Given the description of an element on the screen output the (x, y) to click on. 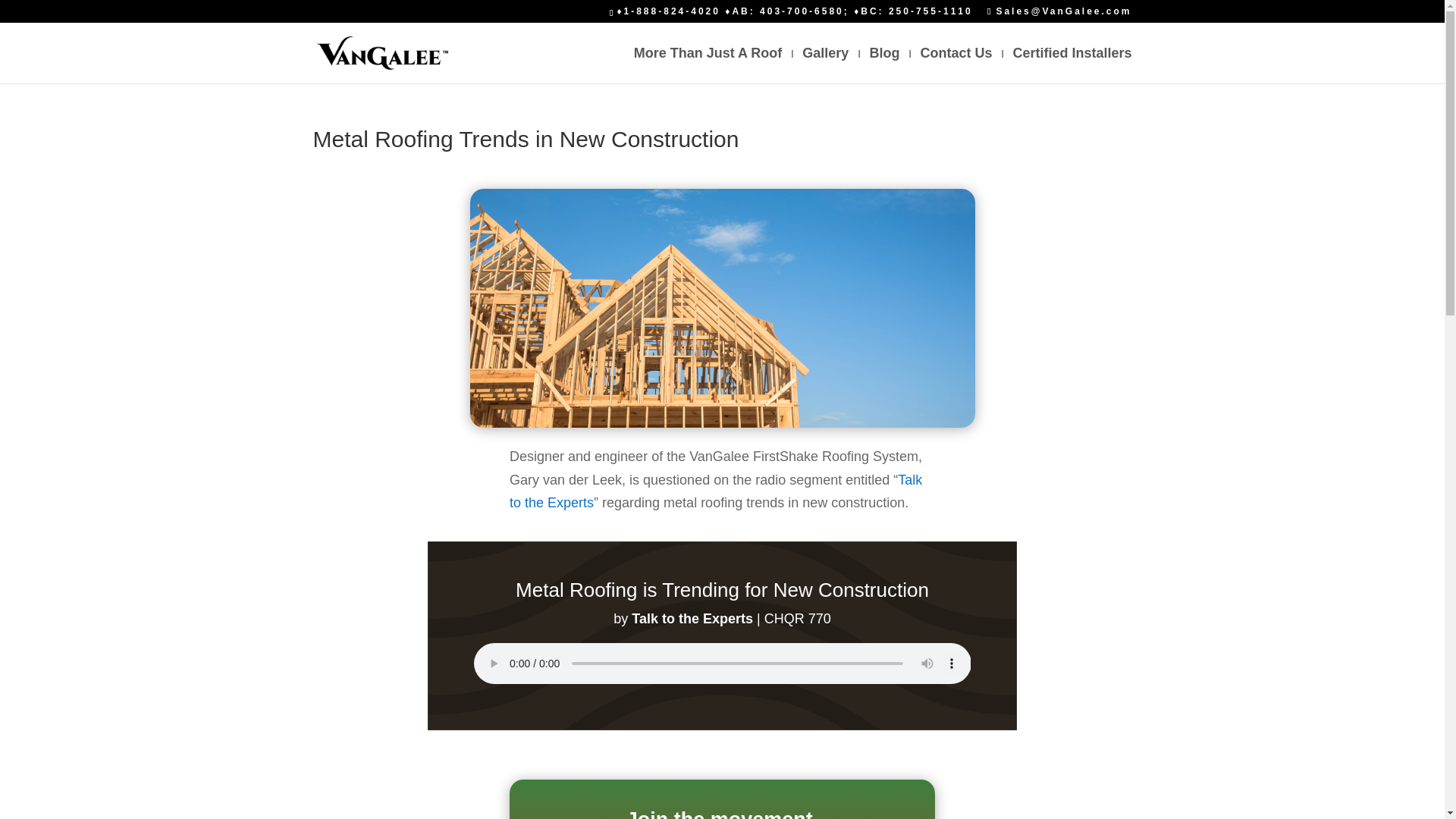
Gallery (825, 65)
New Home Construction (722, 308)
Contact Us (955, 65)
Certified Installers (1071, 65)
More Than Just A Roof (708, 65)
Talk to the Experts (715, 491)
